Given the description of an element on the screen output the (x, y) to click on. 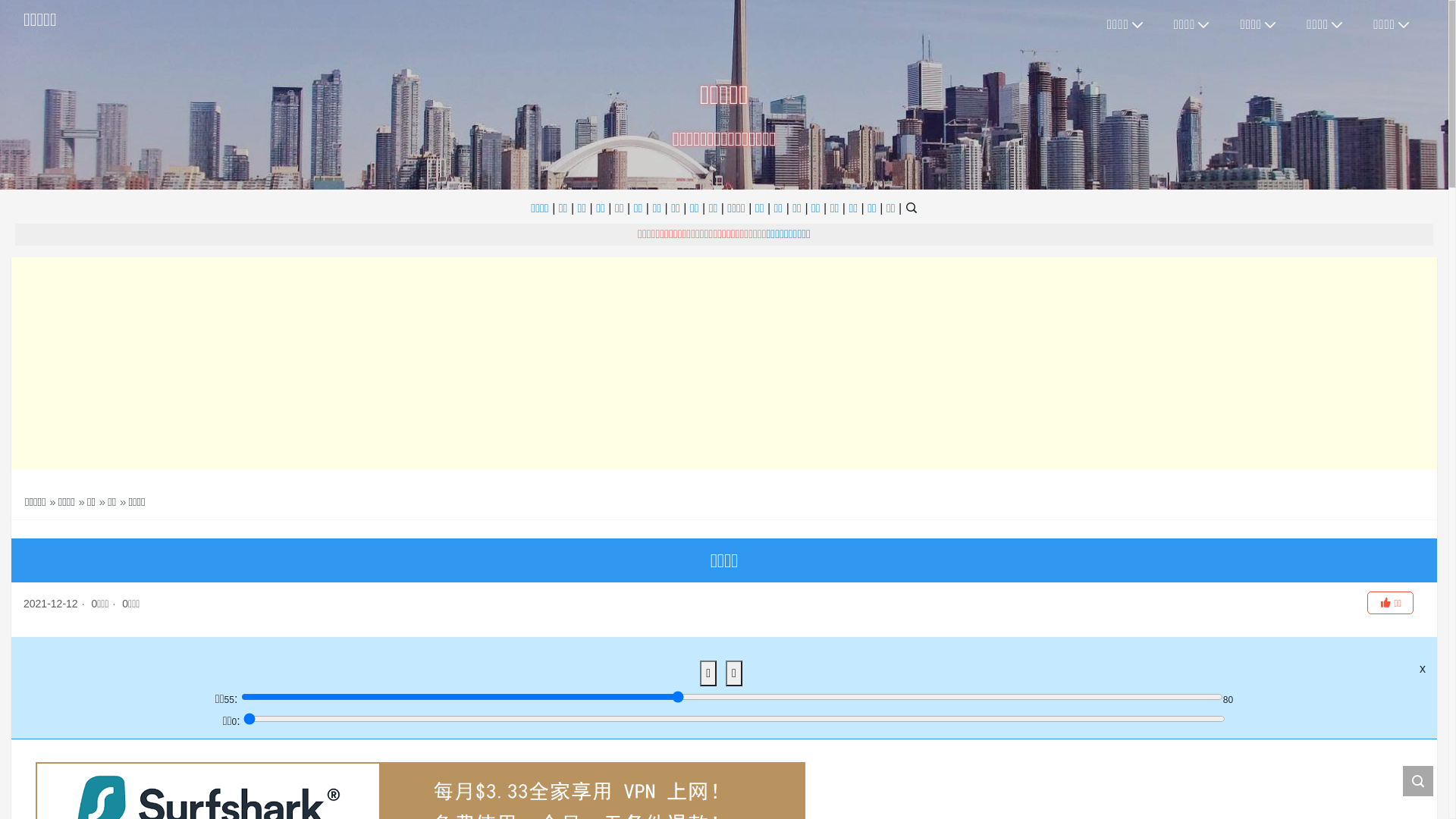
Advertisement Element type: hover (724, 363)
